Given the description of an element on the screen output the (x, y) to click on. 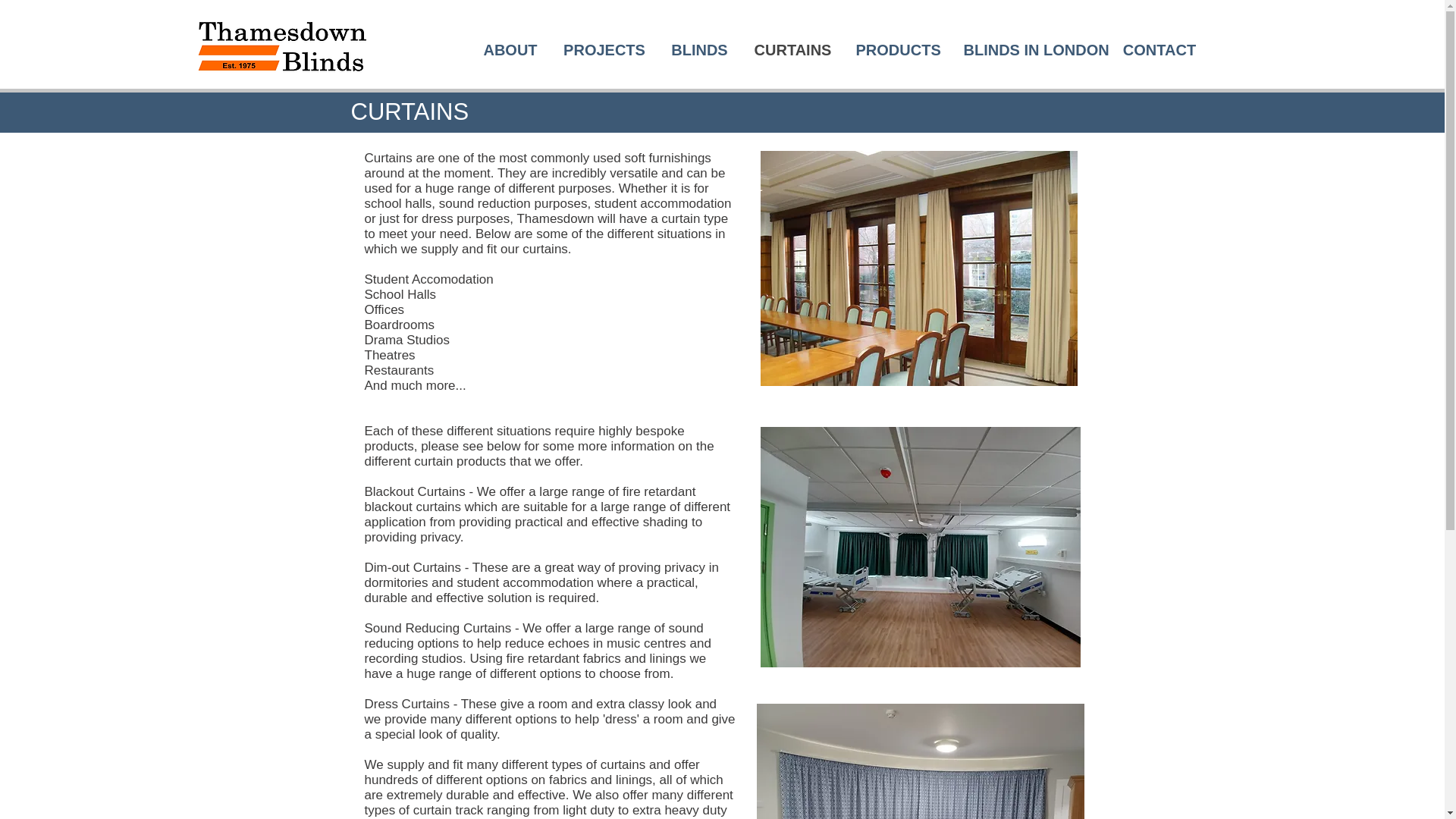
PRODUCTS (898, 49)
CONTACT (1158, 49)
CURTAINS (792, 49)
ABOUT (510, 49)
PROJECTS (604, 49)
BLINDS (699, 49)
BLINDS IN LONDON (1031, 49)
